Given the description of an element on the screen output the (x, y) to click on. 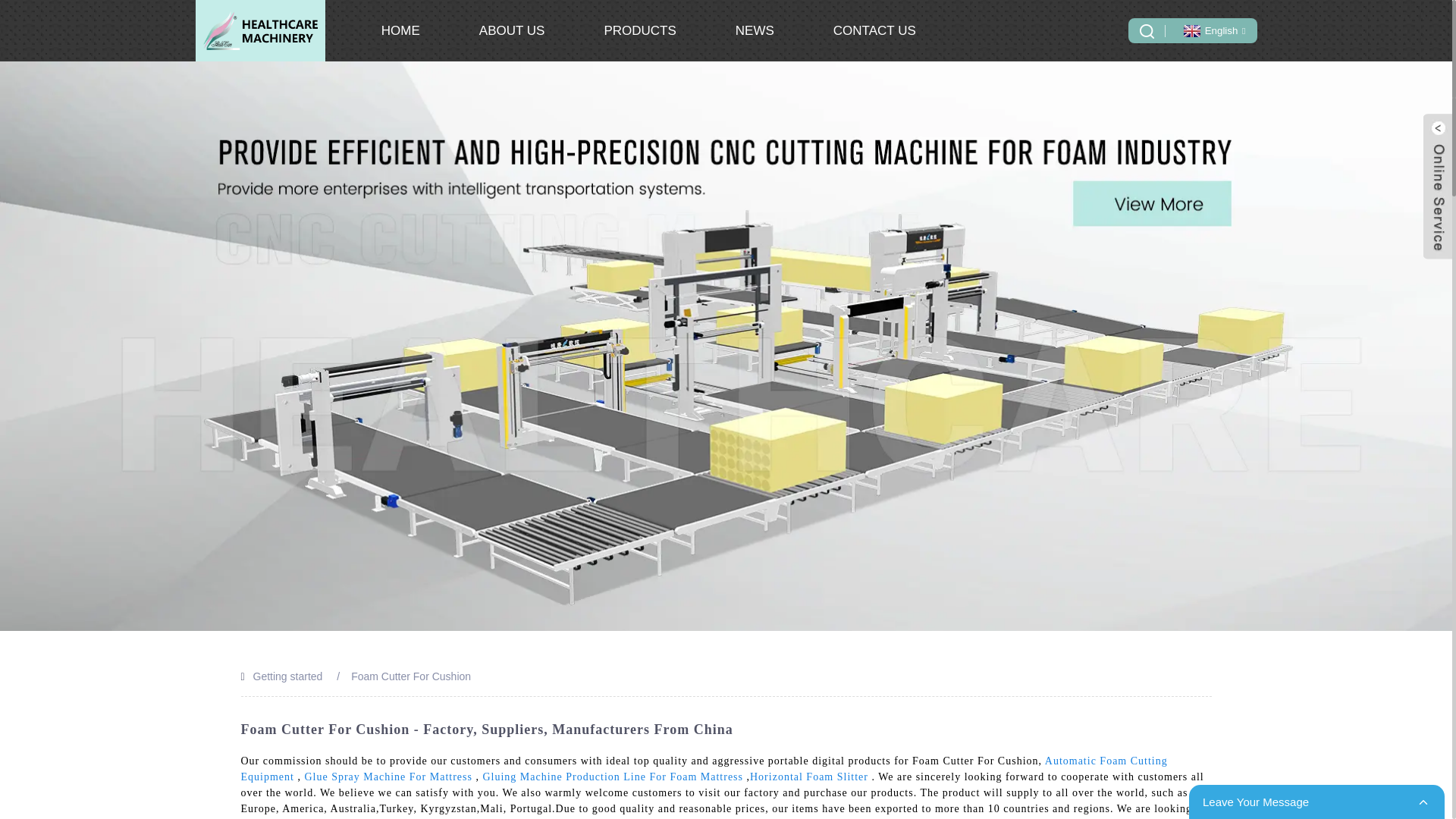
Gluing Machine Production Line For Foam Mattress (611, 776)
Glue Spray Machine For Mattress (387, 776)
Getting started (288, 676)
English (1212, 30)
Gluing Machine Production Line For Foam Mattress (611, 776)
Glue Spray Machine For Mattress (387, 776)
Horizontal Foam Slitter (808, 776)
Automatic Foam Cutting Equipment (704, 768)
Horizontal Foam Slitter (808, 776)
ABOUT US (511, 30)
CONTACT US (873, 30)
Foam Cutter For Cushion (410, 676)
PRODUCTS (639, 30)
Automatic Foam Cutting Equipment (704, 768)
